Given the description of an element on the screen output the (x, y) to click on. 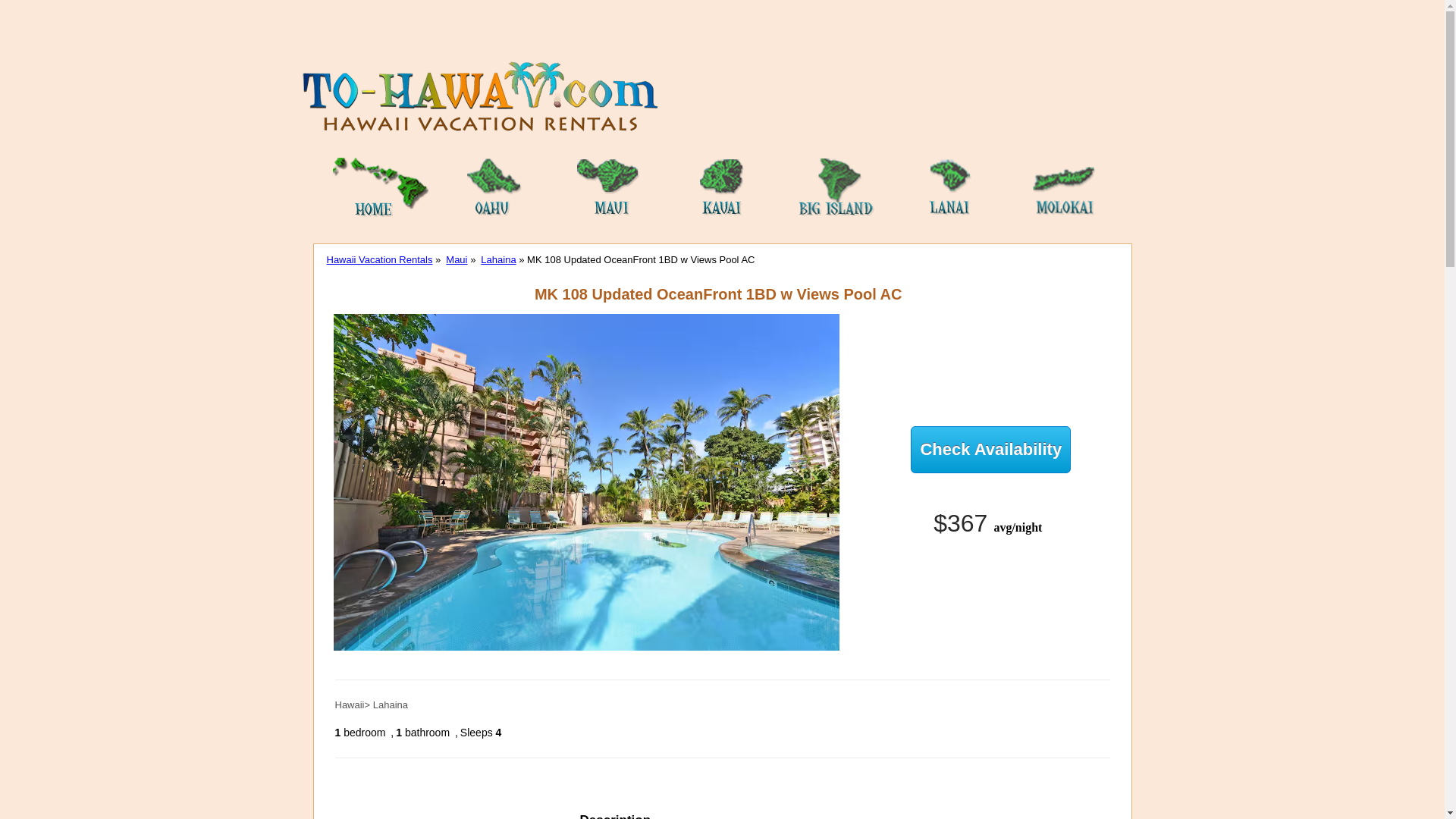
Lahaina (497, 259)
Reviews (698, 811)
Map (758, 811)
Description (615, 811)
Photos (815, 811)
Check Availability (990, 449)
Maui (456, 259)
Hawaii Vacation Rentals (379, 259)
